Given the description of an element on the screen output the (x, y) to click on. 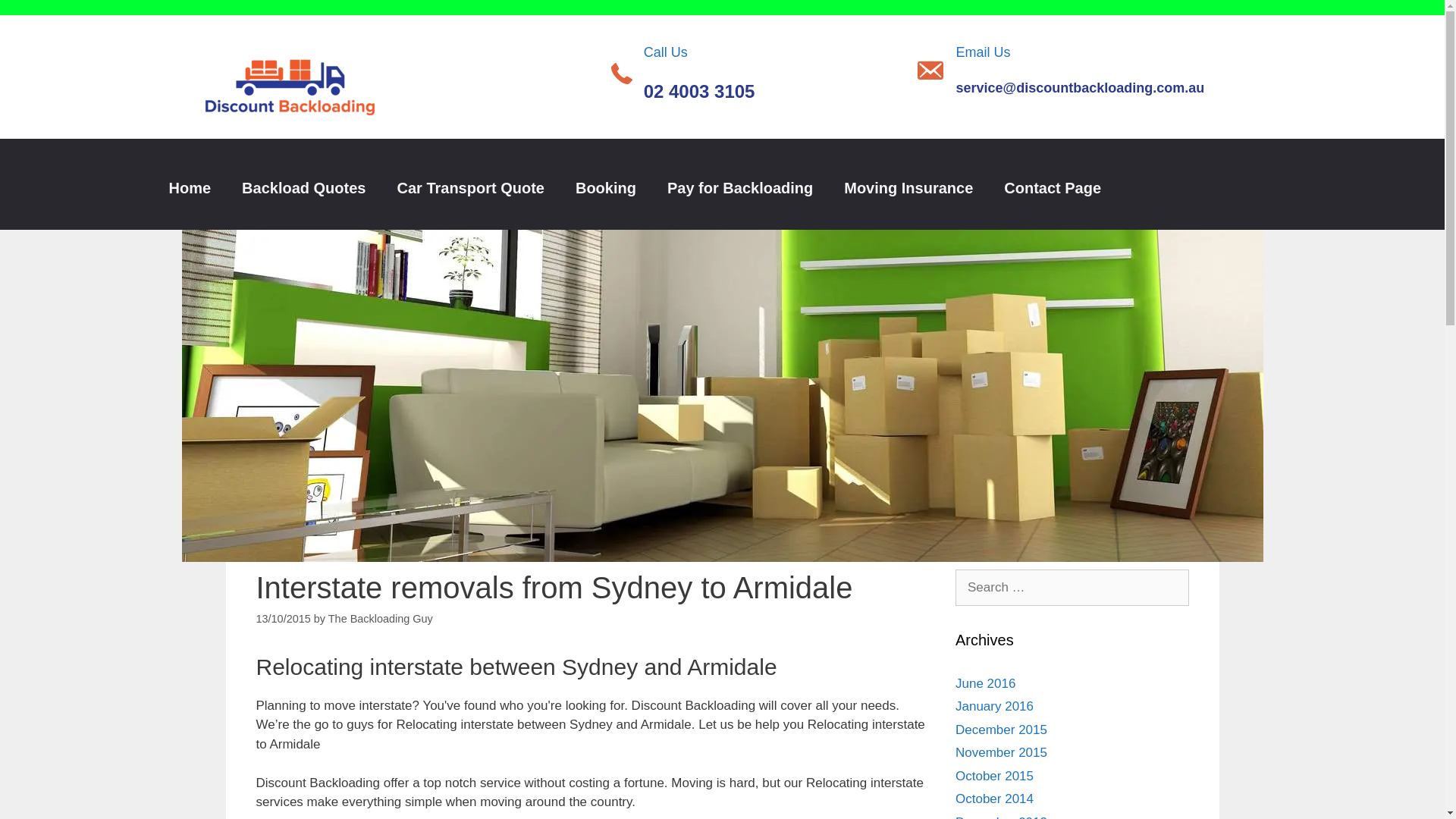
Email Us
service@discountbackloading.com.au Element type: text (1080, 70)
Car Transport Quote Element type: text (469, 188)
Backload Quotes Element type: text (303, 188)
Home Element type: text (189, 188)
Booking Element type: text (605, 188)
Pay for Backloading Element type: text (740, 188)
backload-interstate-removalist Element type: hover (722, 557)
October 2014 Element type: text (994, 798)
Contact Page Element type: text (1052, 188)
June 2016 Element type: text (985, 683)
The Backloading Guy Element type: text (380, 618)
December 2015 Element type: text (1001, 728)
Search for: Element type: hover (1072, 587)
Search Element type: text (36, 18)
Call Us
02 4003 3105 Element type: text (699, 73)
January 2016 Element type: text (994, 706)
November 2015 Element type: text (1001, 752)
discount-backloading Element type: hover (289, 187)
Moving Insurance Element type: text (908, 188)
October 2015 Element type: text (994, 775)
